Given the description of an element on the screen output the (x, y) to click on. 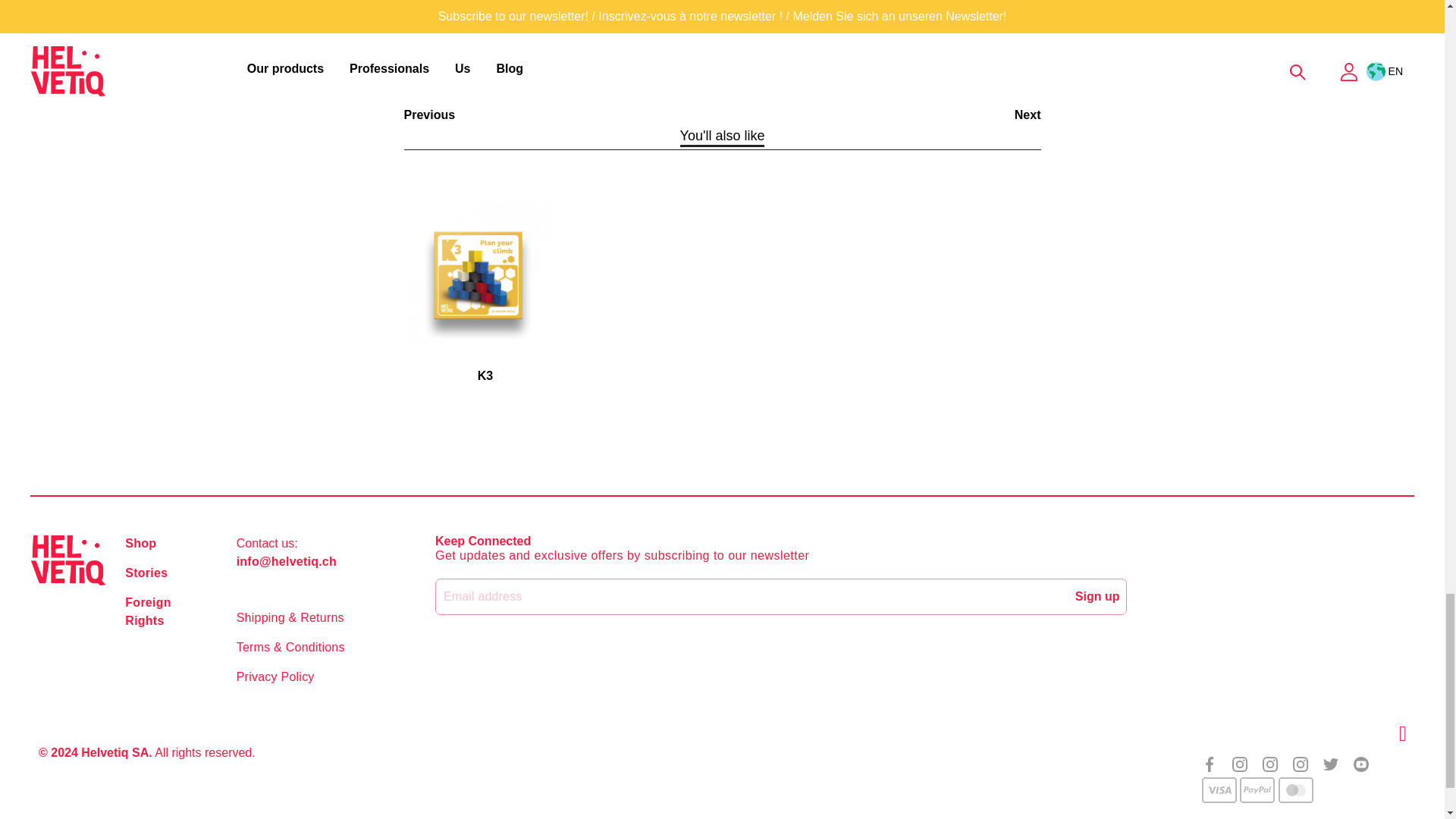
Sign up (1097, 596)
